Given the description of an element on the screen output the (x, y) to click on. 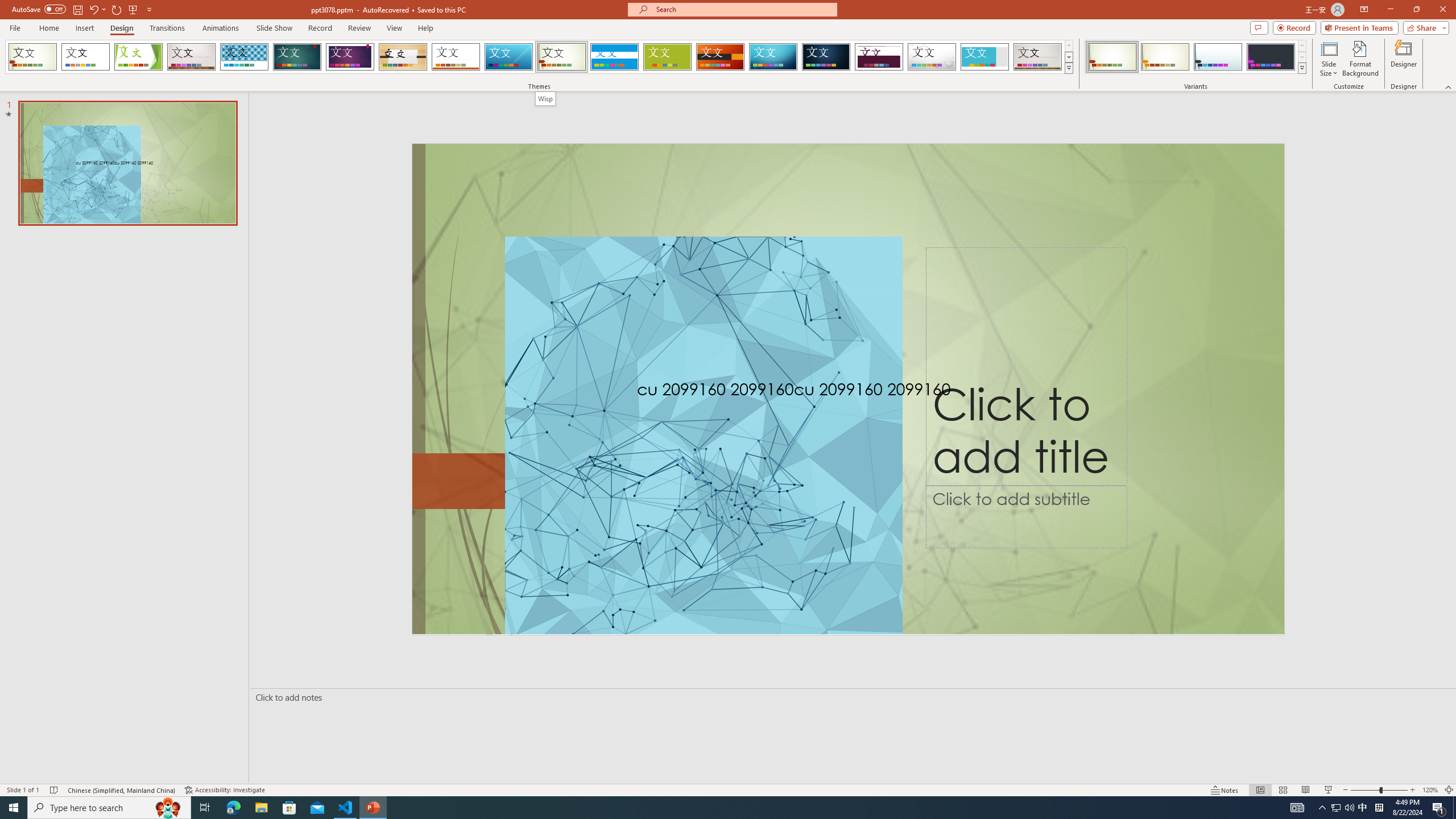
Accessibility Checker Accessibility: Investigate (226, 790)
Frame Loading Preview... (984, 56)
Row Down (1301, 56)
Wisp Variant 4 (1270, 56)
Facet (138, 56)
Ion Loading Preview... (296, 56)
Microsoft search (742, 9)
Quick Access Toolbar (82, 9)
Zoom In (1412, 790)
Comments (1259, 27)
Present in Teams (1359, 27)
Basis Loading Preview... (667, 56)
Collapse the Ribbon (1448, 86)
